Given the description of an element on the screen output the (x, y) to click on. 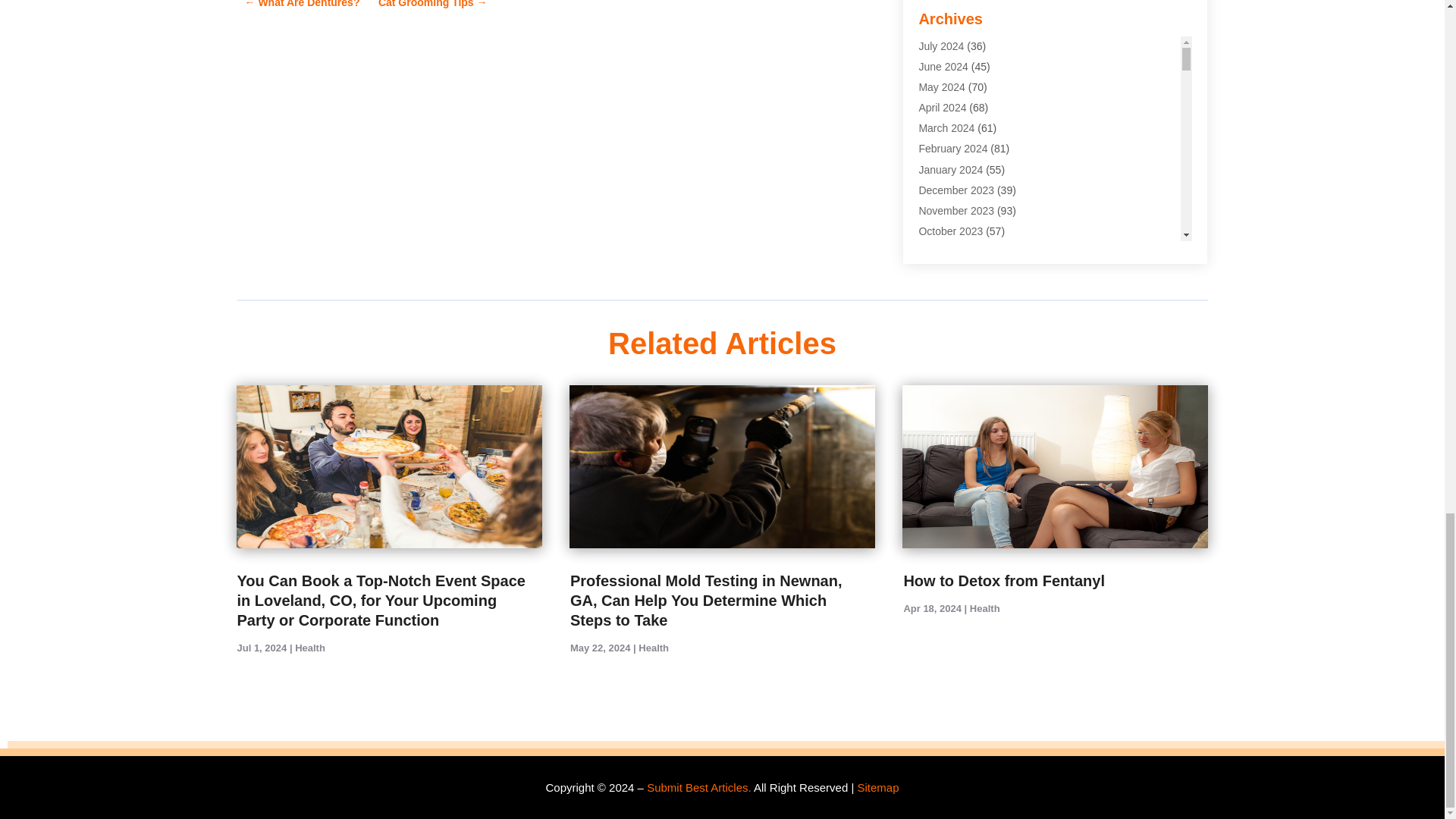
Air Conditioning Repair Service (991, 29)
Air Duct Cleaning Service (978, 50)
Air Quality Control System (980, 70)
Air Conditioning Contractor (981, 8)
